Given the description of an element on the screen output the (x, y) to click on. 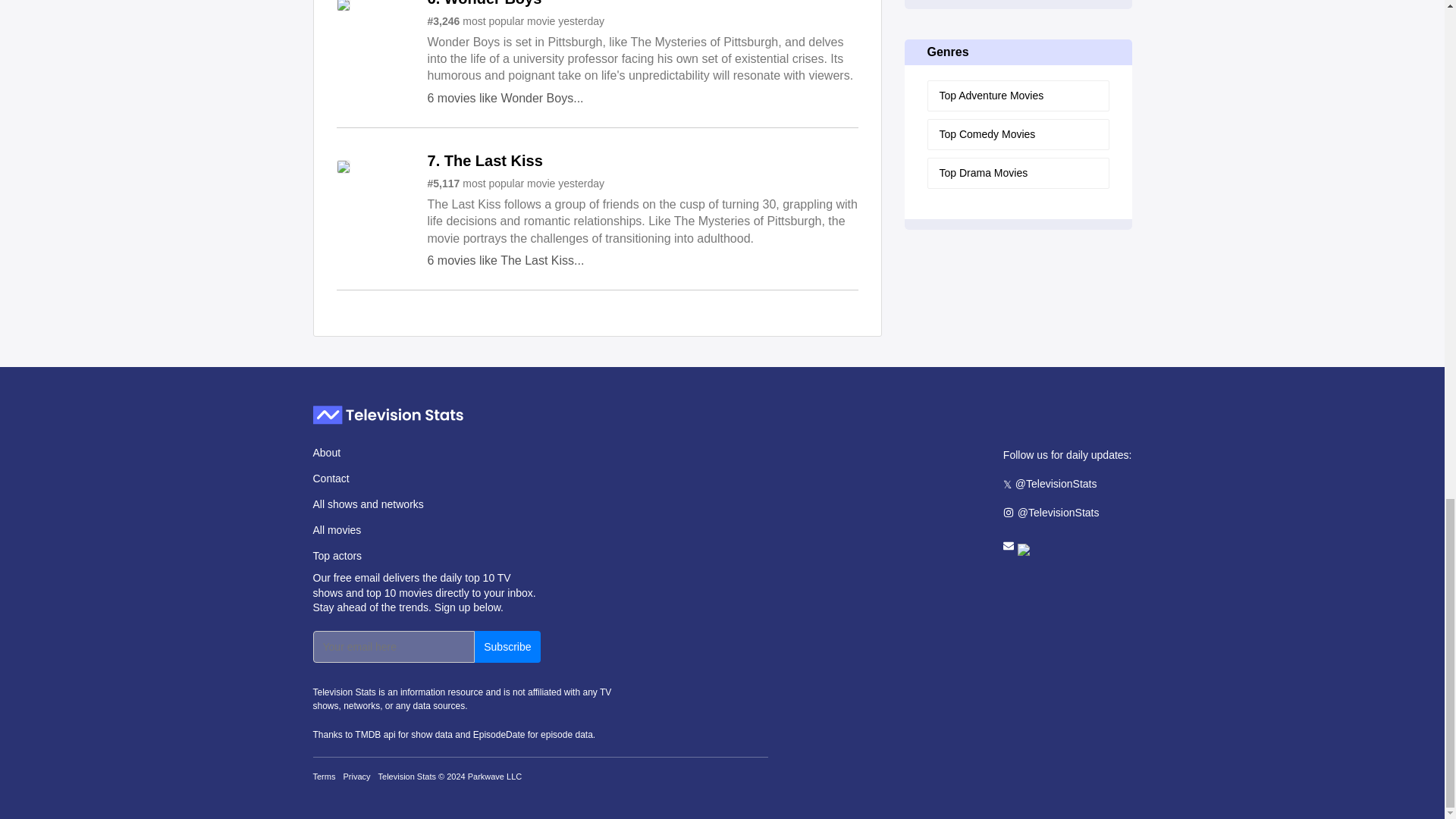
6 movies like Wonder Boys... (505, 97)
6. Wonder Boys (484, 2)
7. The Last Kiss (485, 161)
6 movies like The Last Kiss... (506, 259)
